Given the description of an element on the screen output the (x, y) to click on. 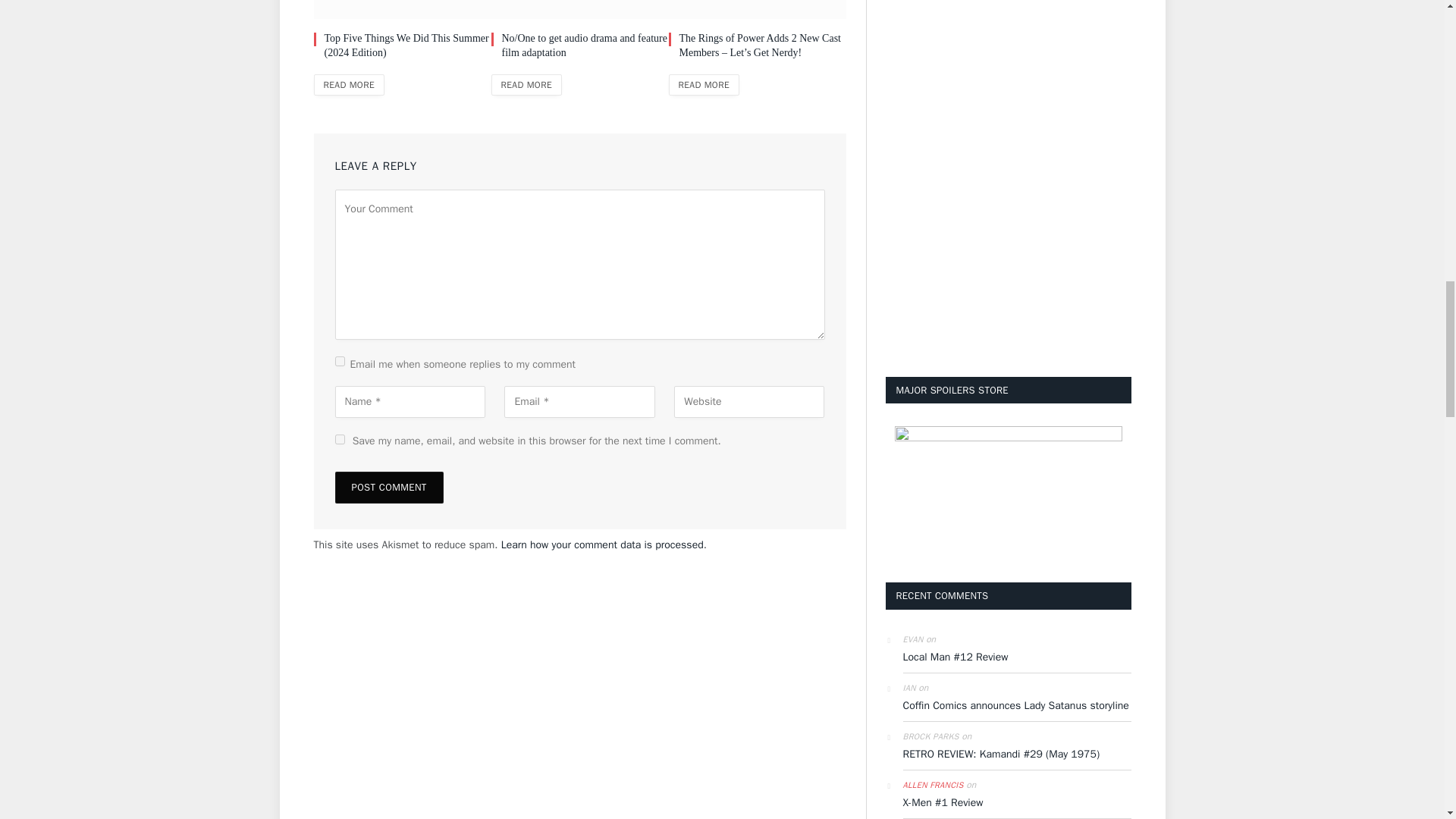
yes (339, 439)
Post Comment (389, 487)
